Given the description of an element on the screen output the (x, y) to click on. 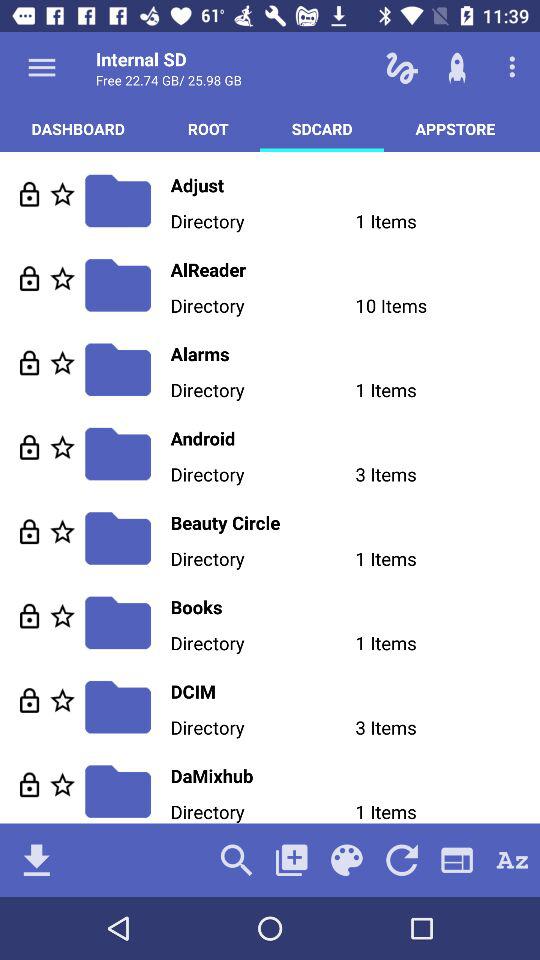
tap the icon below the 1 items item (456, 859)
